Given the description of an element on the screen output the (x, y) to click on. 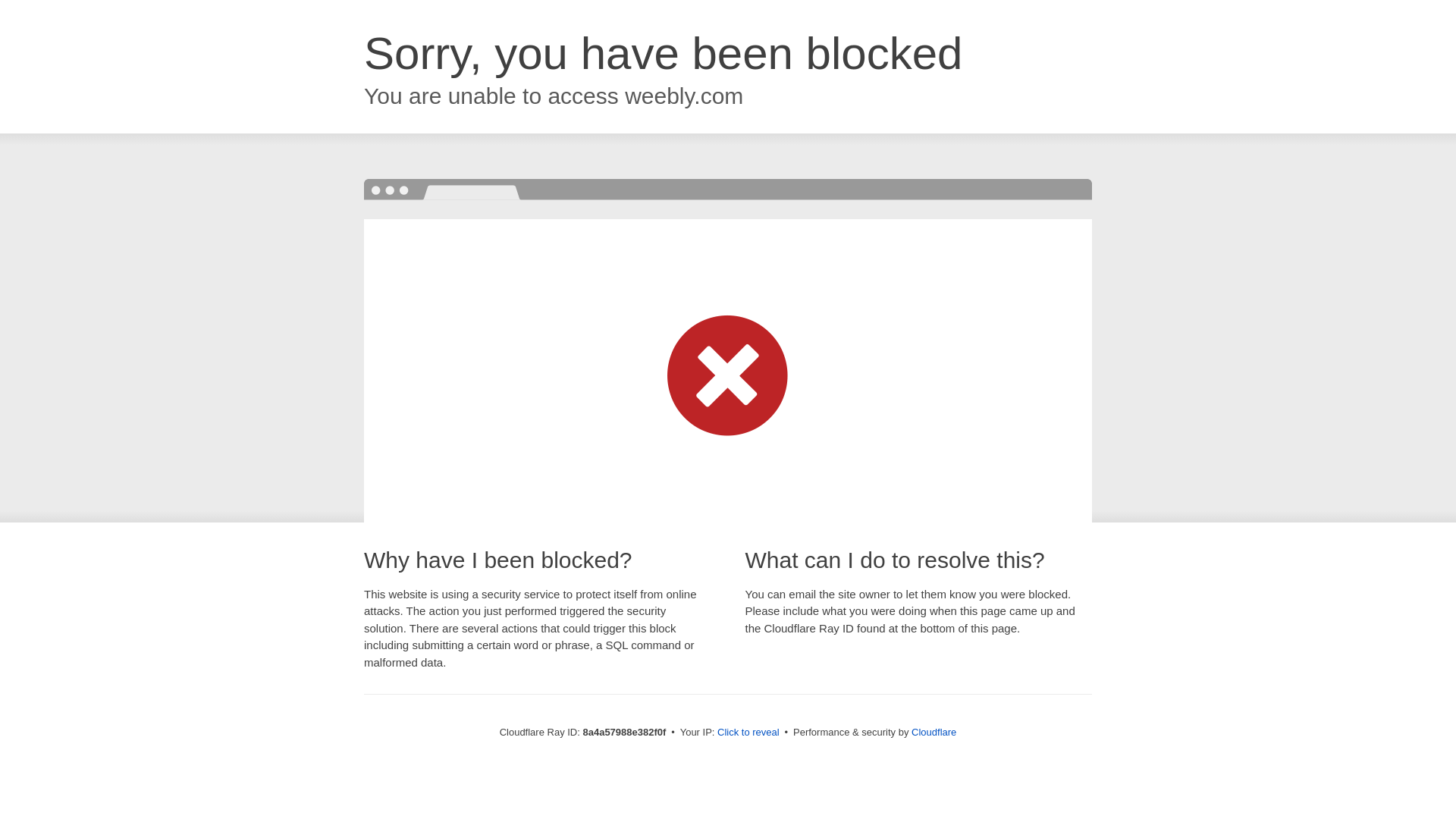
Cloudflare (933, 731)
Click to reveal (747, 732)
